Given the description of an element on the screen output the (x, y) to click on. 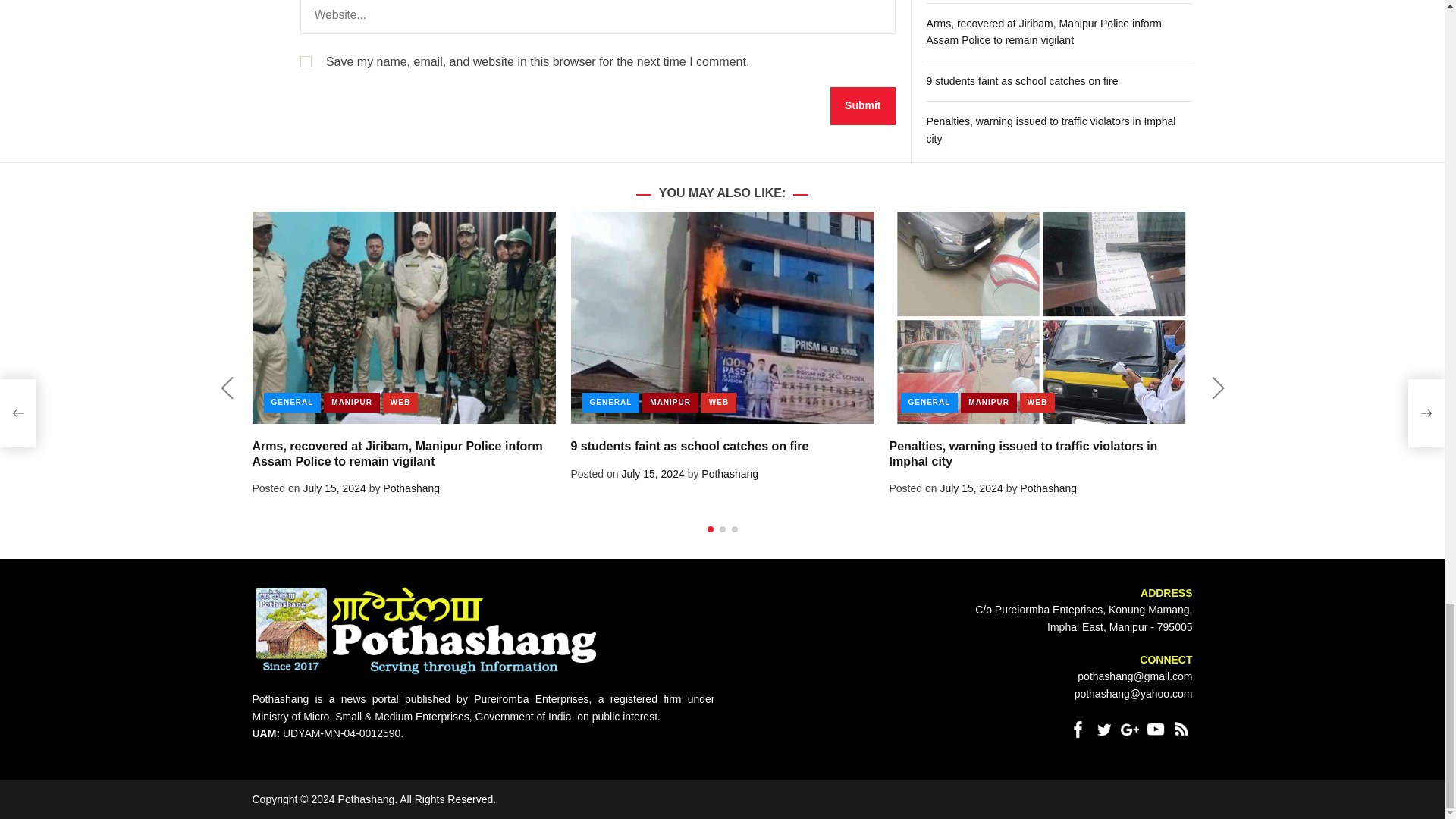
Submit (862, 105)
yes (305, 61)
Submit (862, 105)
